Given the description of an element on the screen output the (x, y) to click on. 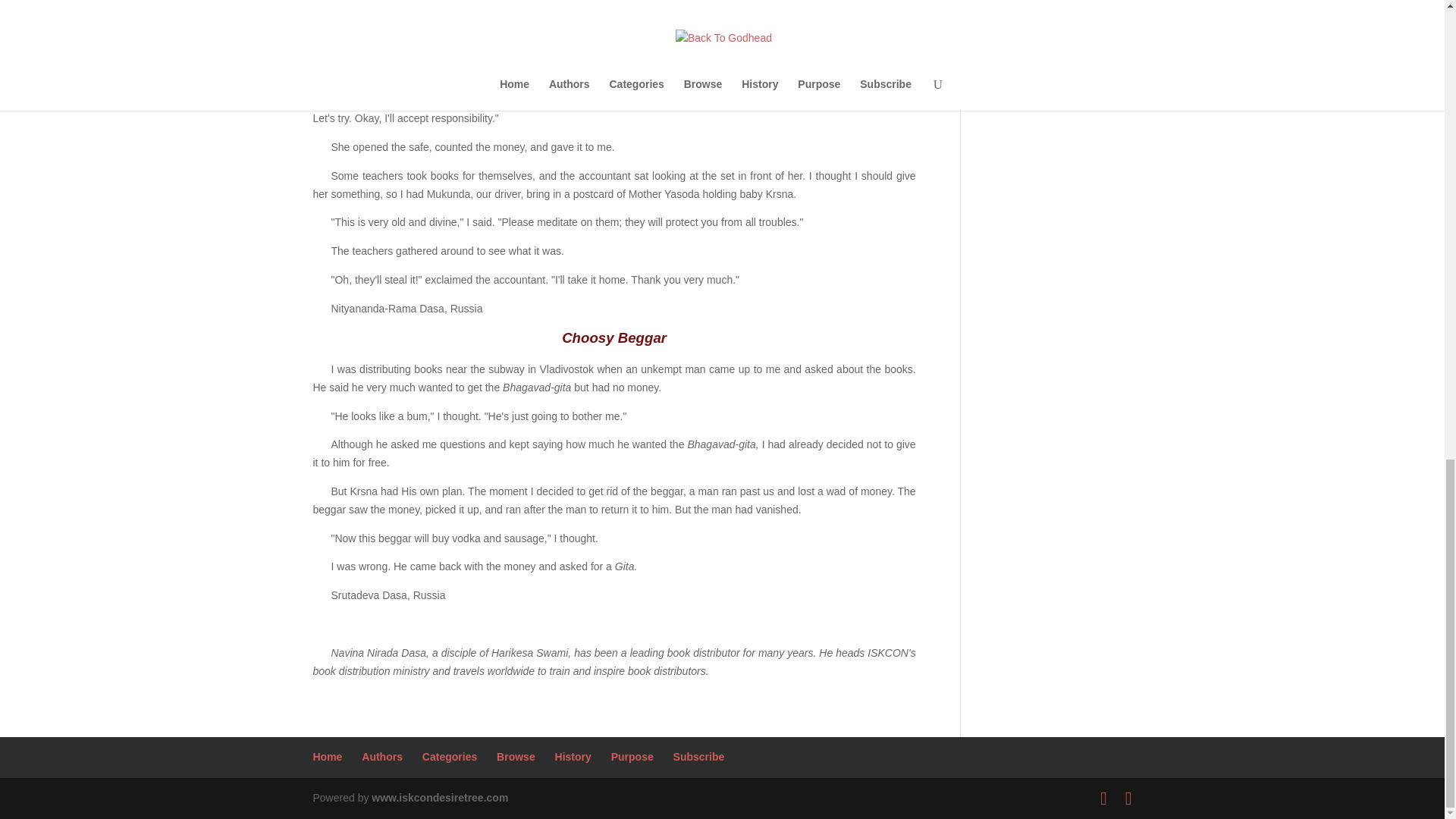
www.iskcondesiretree.com (439, 797)
Home (327, 756)
Purpose (632, 756)
Home (327, 756)
Categories (449, 756)
Browse (515, 756)
History (572, 756)
Categories (449, 756)
Browse (515, 756)
Authors (382, 756)
